Given the description of an element on the screen output the (x, y) to click on. 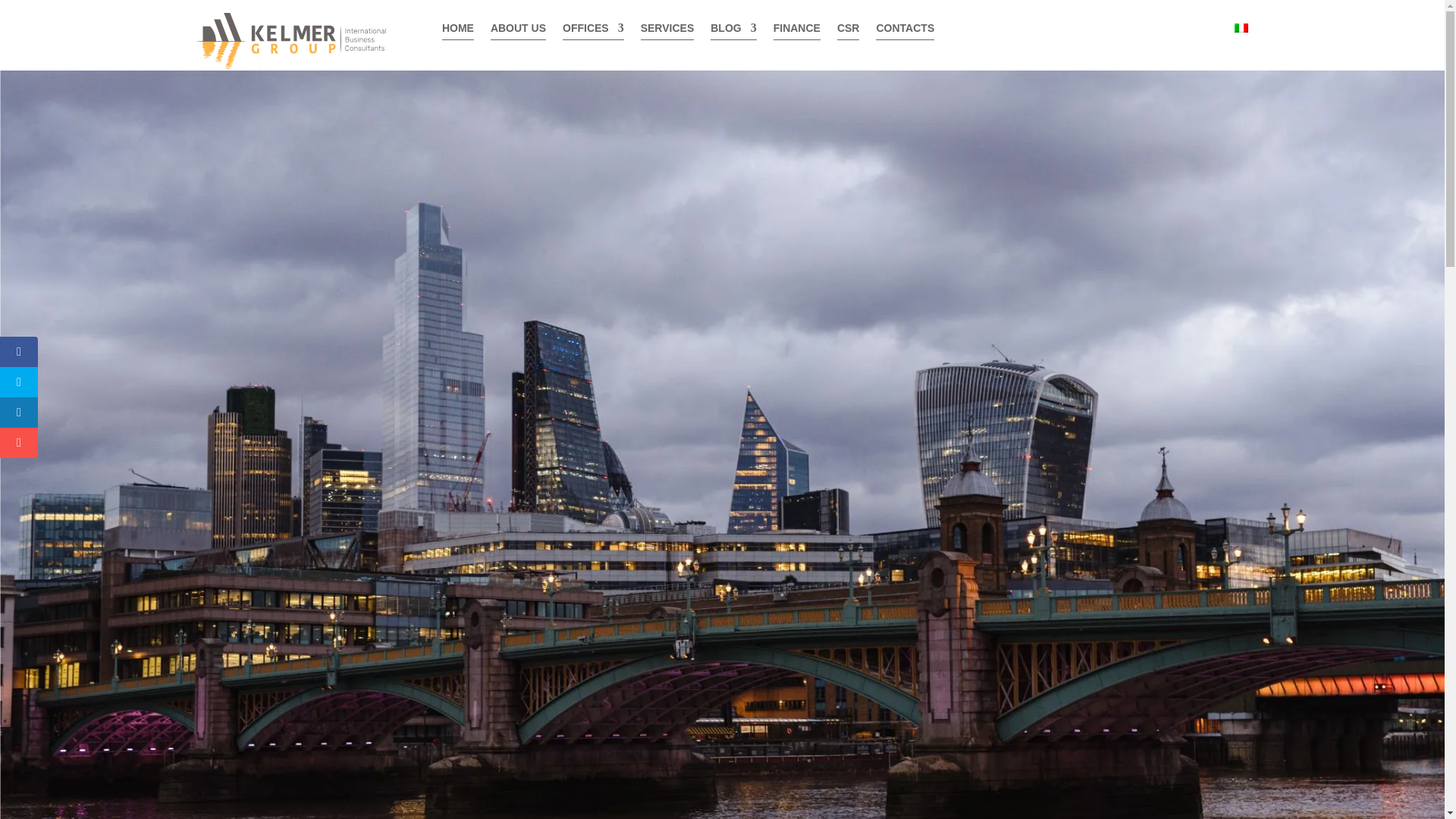
CONTACTS (905, 31)
BLOG (732, 31)
HOME (458, 31)
FINANCE (797, 31)
ABOUT US (518, 31)
CSR (848, 31)
Logo Kelmer Group (290, 40)
SERVICES (667, 31)
OFFICES (593, 31)
